Given the description of an element on the screen output the (x, y) to click on. 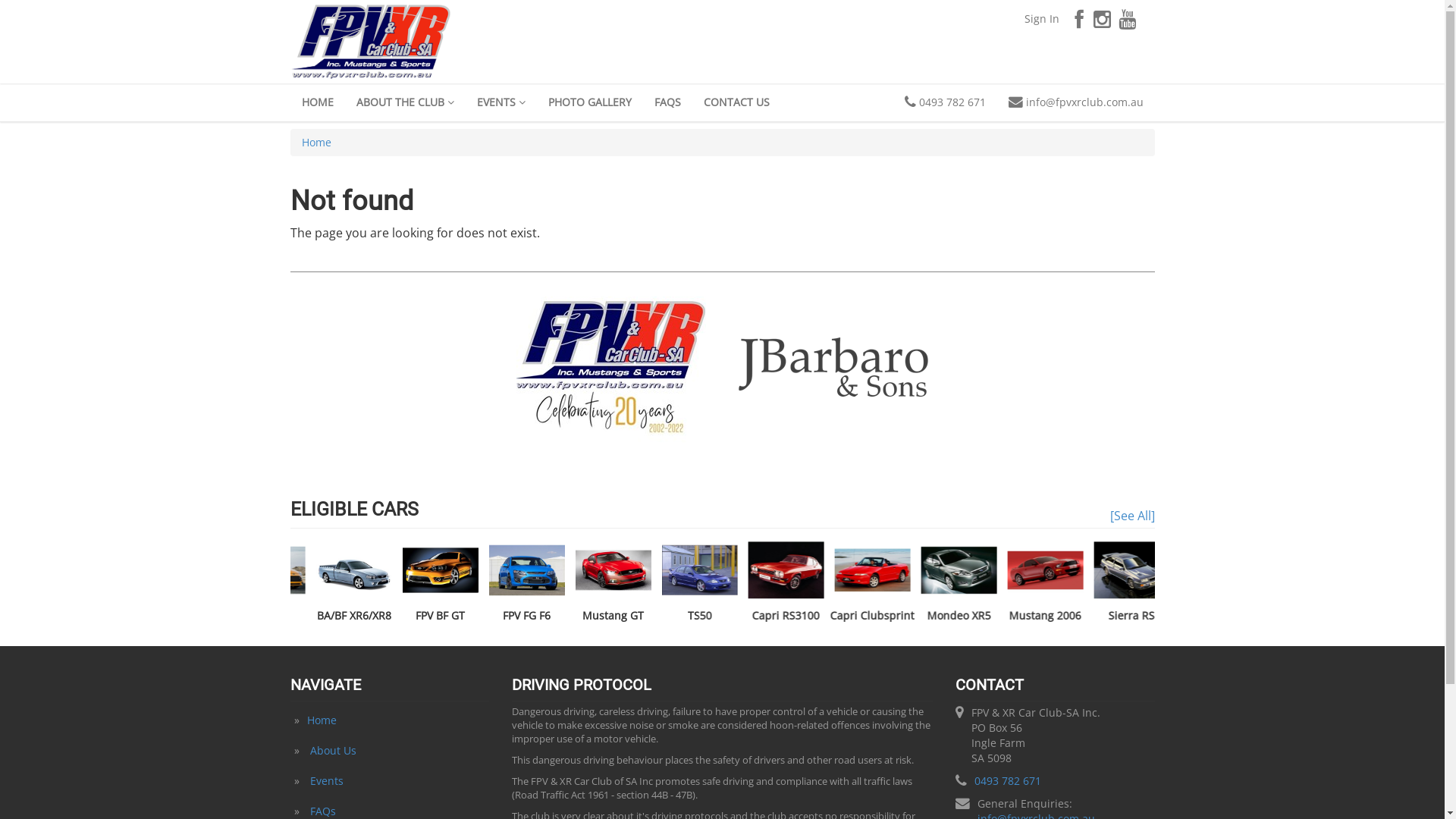
0493 782 671 Element type: text (1007, 780)
ABOUT THE CLUB  Element type: text (404, 102)
PHOTO GALLERY Element type: text (589, 102)
[See All] Element type: text (1132, 515)
EVENTS  Element type: text (500, 102)
Home Element type: text (320, 720)
FAQS Element type: text (667, 102)
Home Element type: text (316, 141)
HOME Element type: text (316, 102)
Events Element type: text (325, 780)
0493 782 671 Element type: text (945, 102)
CONTACT US Element type: text (735, 102)
info@fpvxrclub.com.au Element type: text (1075, 102)
J Barbaro & Sons Element type: hover (833, 365)
About Us Element type: text (332, 750)
Sign In Element type: text (1041, 18)
